Given the description of an element on the screen output the (x, y) to click on. 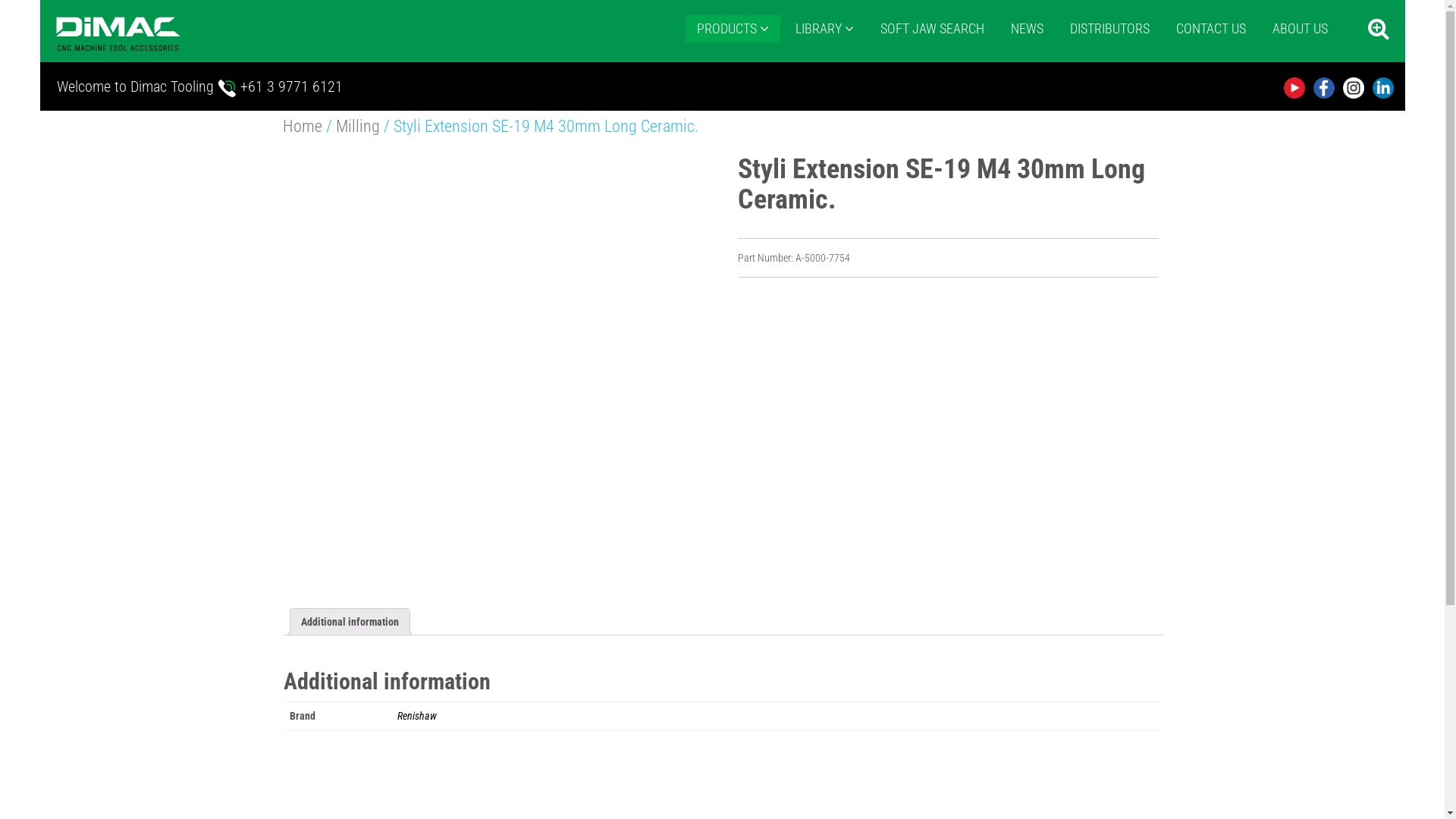
Additional information Element type: text (349, 621)
CONTACT US Element type: text (1210, 28)
NEWS Element type: text (1026, 28)
ABOUT US Element type: text (1299, 28)
+61 3 9771 6121 Element type: text (289, 86)
SOFT JAW SEARCH Element type: text (932, 28)
PRODUCTS Element type: text (732, 28)
DISTRIBUTORS Element type: text (1109, 28)
Home Element type: text (301, 125)
LIBRARY Element type: text (824, 28)
Milling Element type: text (357, 125)
